Given the description of an element on the screen output the (x, y) to click on. 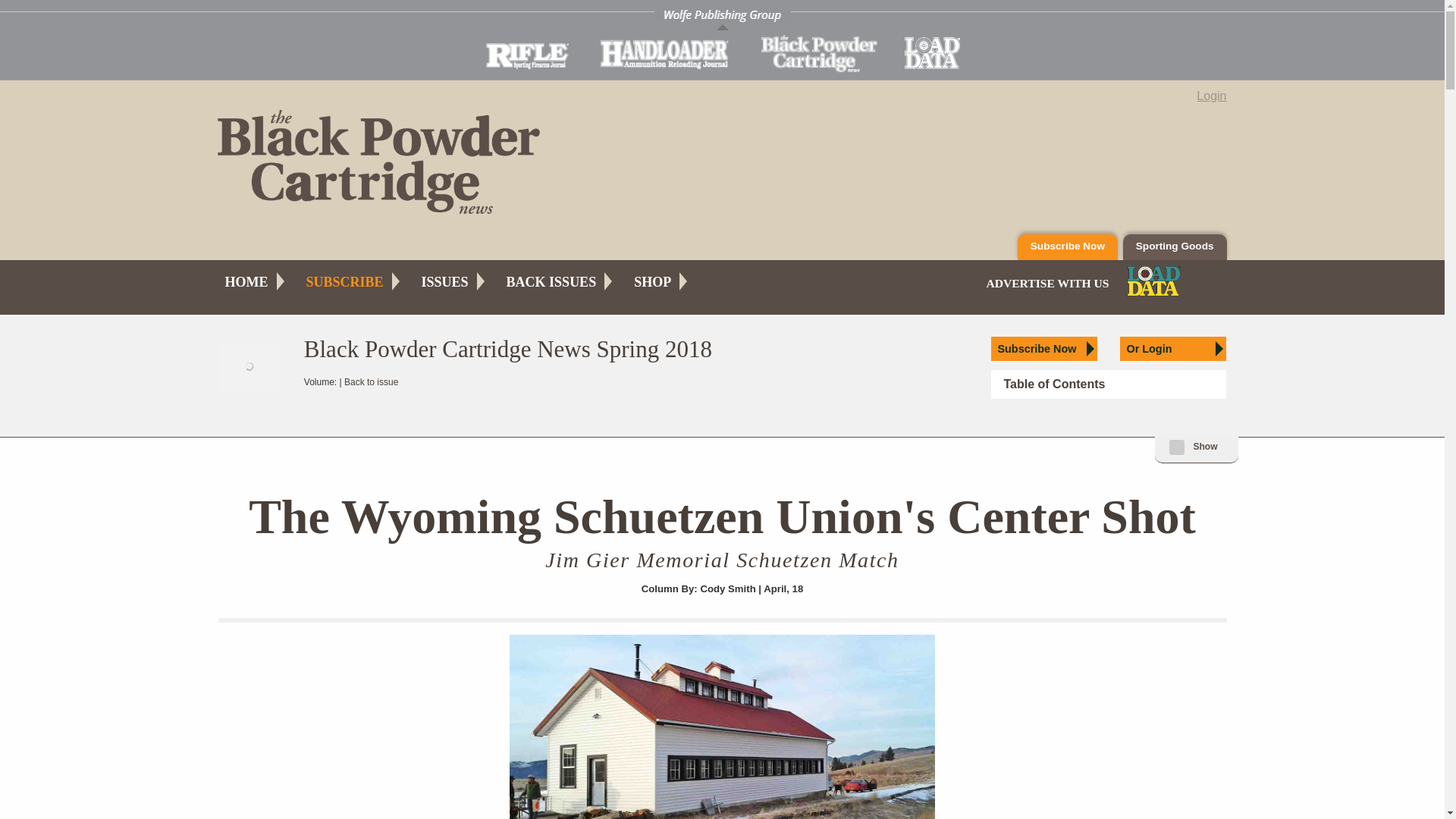
SHOP (652, 282)
SUBSCRIBE (344, 282)
Login (1172, 348)
BACK ISSUES (551, 282)
ISSUES (445, 282)
Login (1210, 96)
Table of Contents (1108, 384)
HOME (246, 282)
Subscribe Now (1067, 247)
Subscribe Now (1044, 348)
Login (1210, 96)
Back to issue (370, 381)
Or Login (1172, 348)
Sporting Goods (1174, 247)
ADVERTISE WITH US (1046, 282)
